Given the description of an element on the screen output the (x, y) to click on. 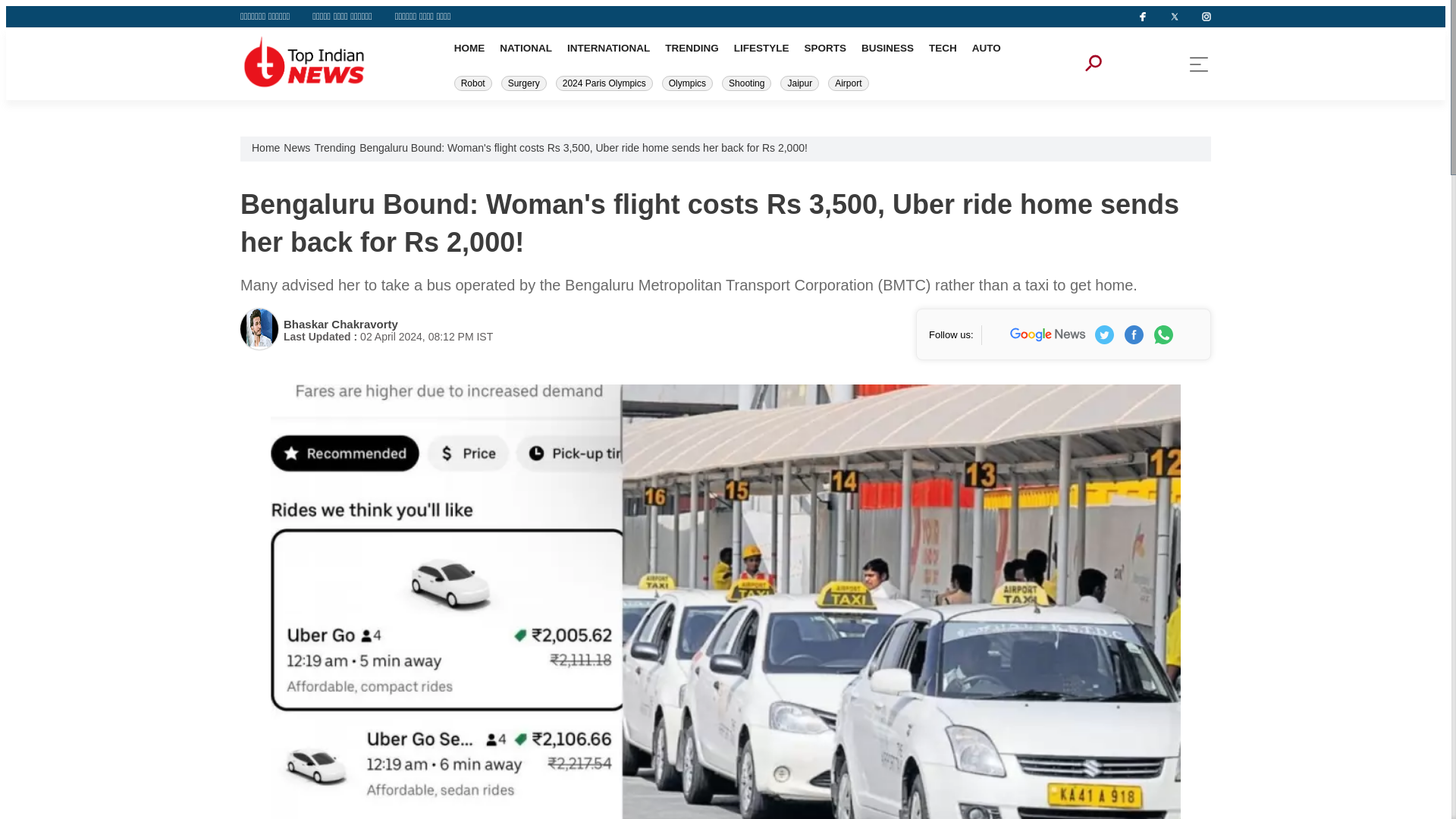
Trending (334, 147)
TRENDING (692, 48)
Top Indian News whatsapp (1163, 333)
Airport (847, 83)
Surgery (523, 83)
TECH (942, 48)
2024 Paris Olympics (604, 83)
Top Indian News Facebook (1133, 333)
AUTO (986, 48)
Jaipur (799, 83)
Robot (473, 83)
SPORTS (824, 48)
Home (265, 147)
BUSINESS (887, 48)
Olympics (687, 83)
